Given the description of an element on the screen output the (x, y) to click on. 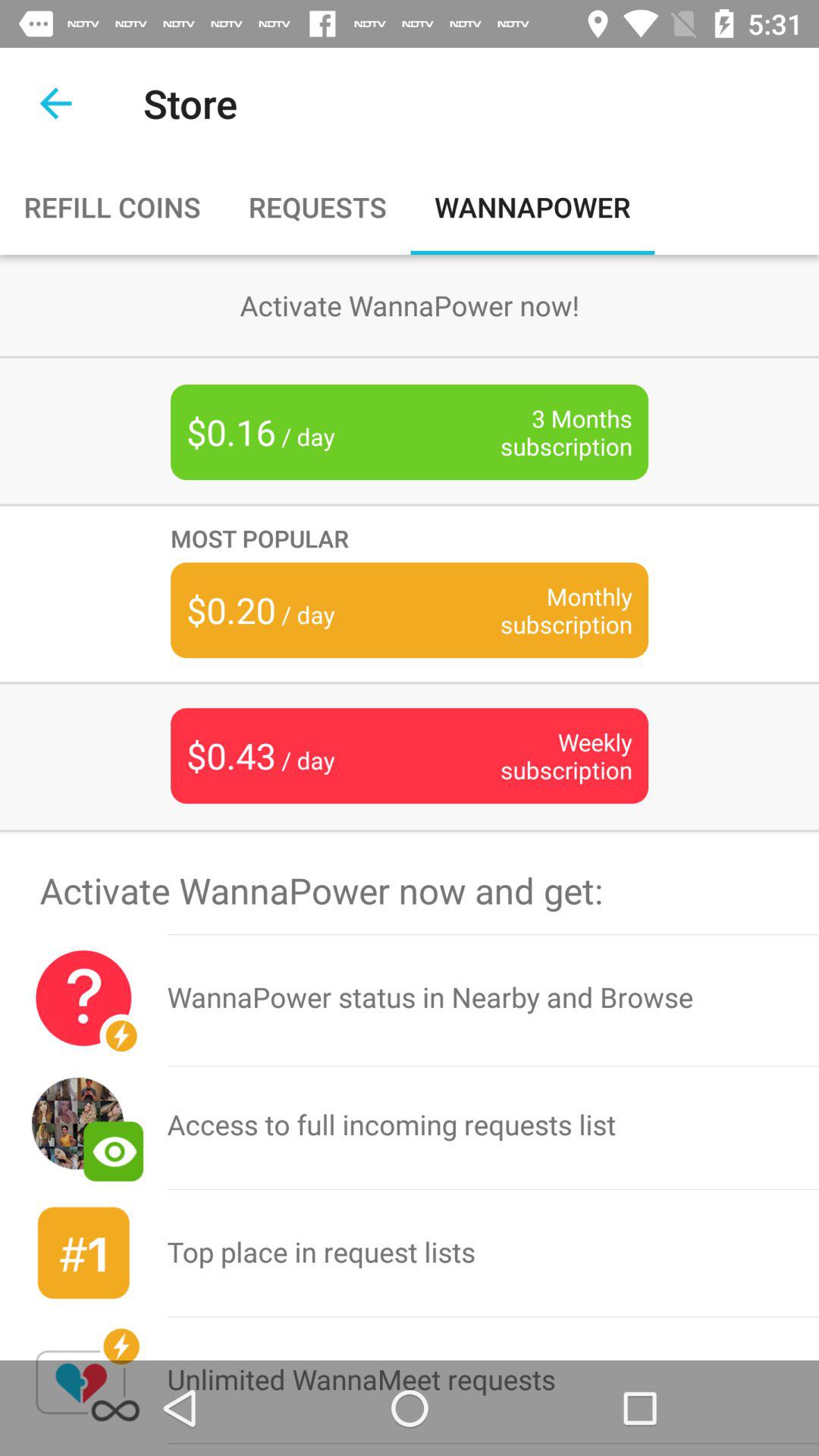
launch icon to the left of the wannapower status in item (83, 997)
